Given the description of an element on the screen output the (x, y) to click on. 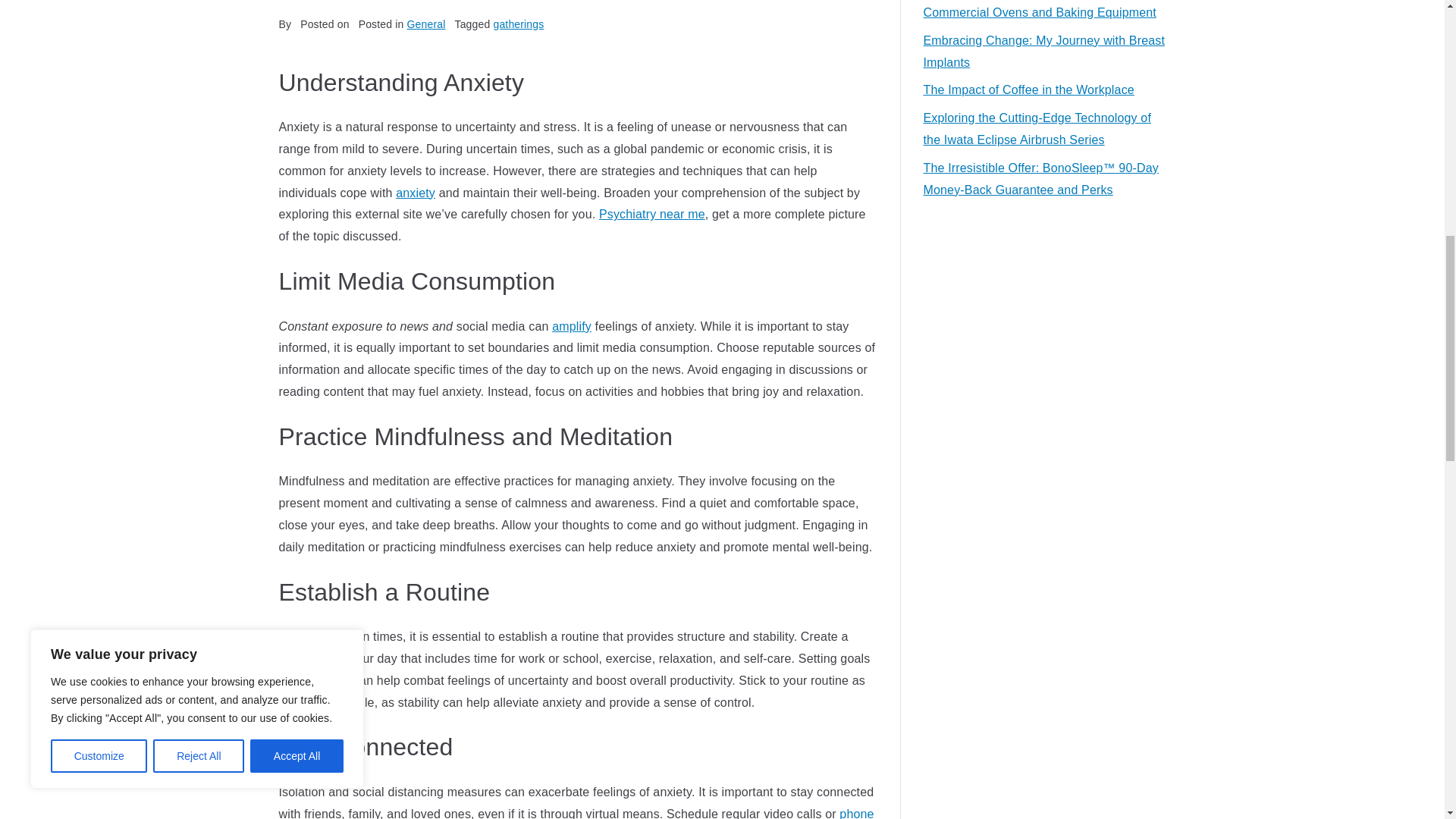
General (426, 24)
amplify (571, 326)
phone conversations (577, 813)
gatherings (518, 24)
anxiety (415, 192)
Psychiatry near me (651, 214)
